Given the description of an element on the screen output the (x, y) to click on. 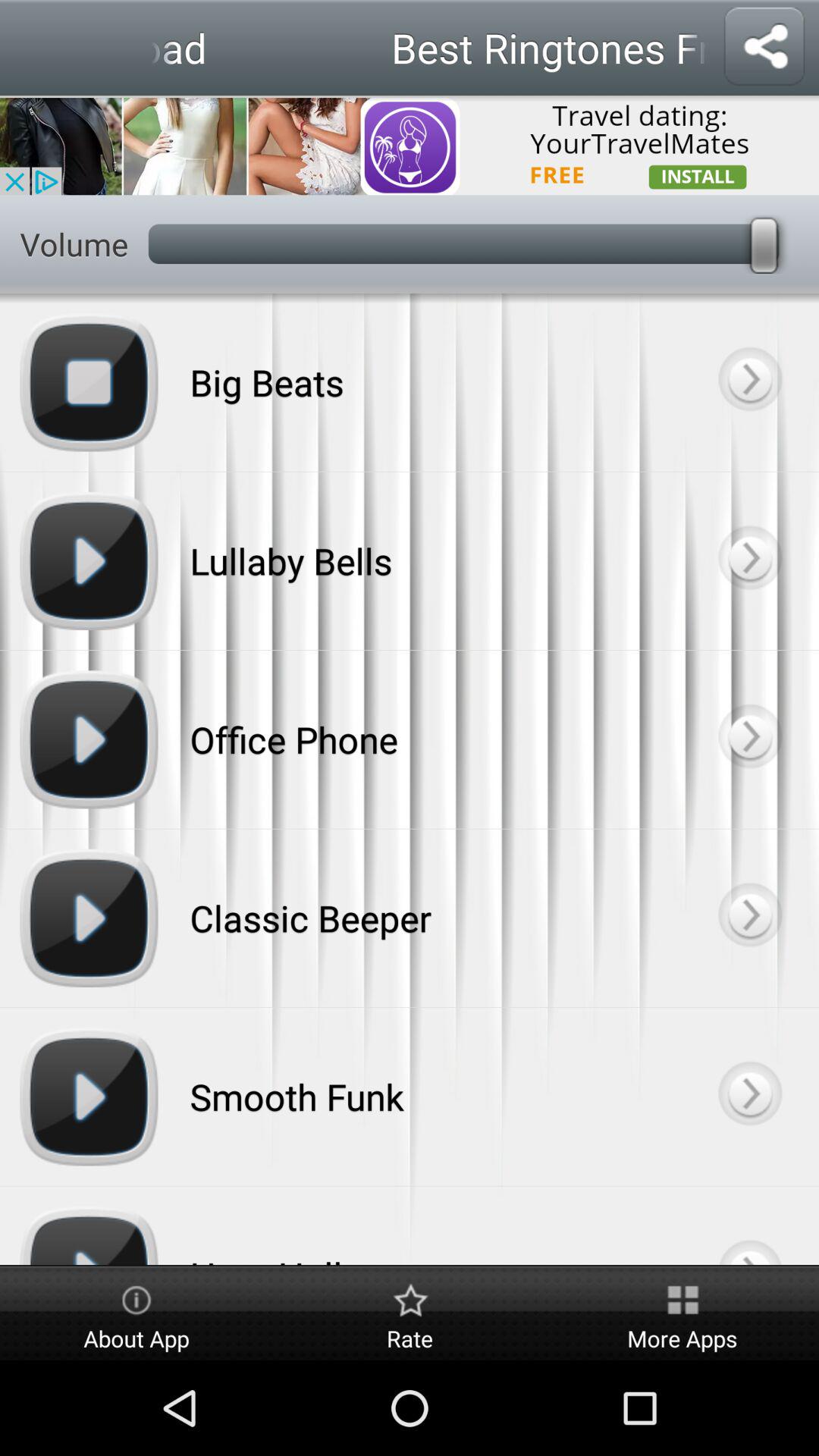
go to option (749, 739)
